Given the description of an element on the screen output the (x, y) to click on. 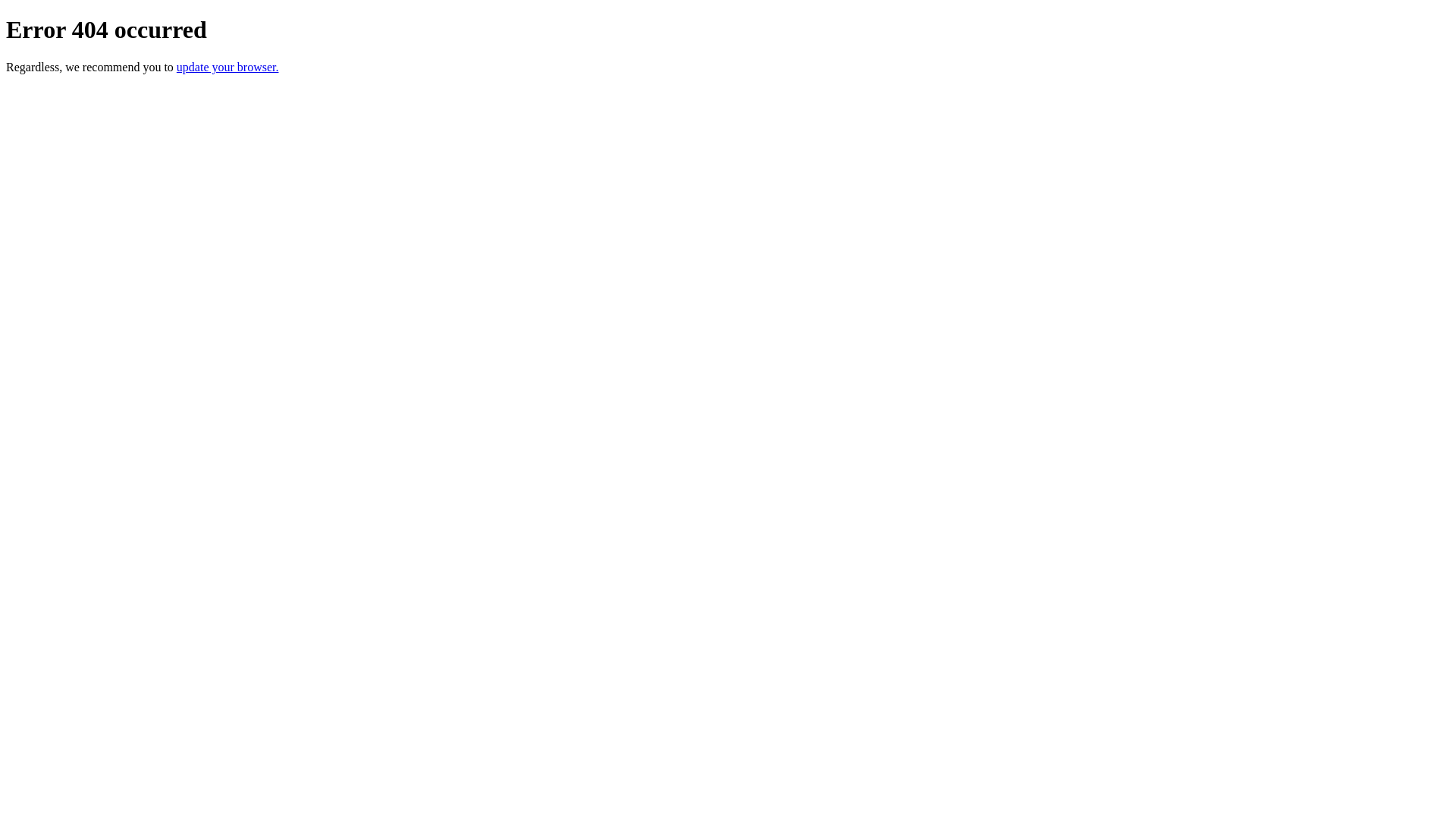
update your browser. Element type: text (227, 66)
